Given the description of an element on the screen output the (x, y) to click on. 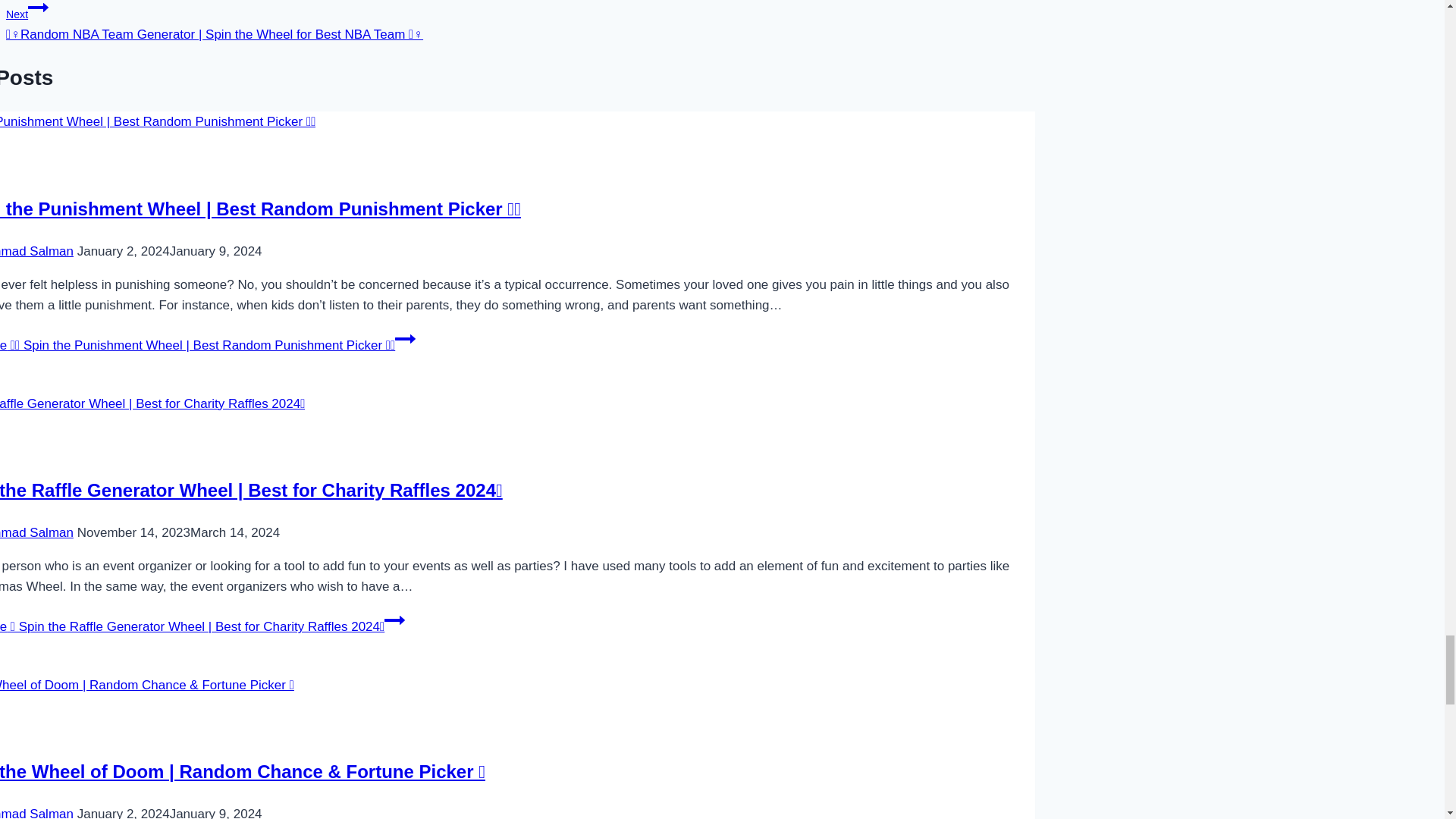
Continue (394, 619)
Continue (404, 338)
Continue (37, 9)
